Given the description of an element on the screen output the (x, y) to click on. 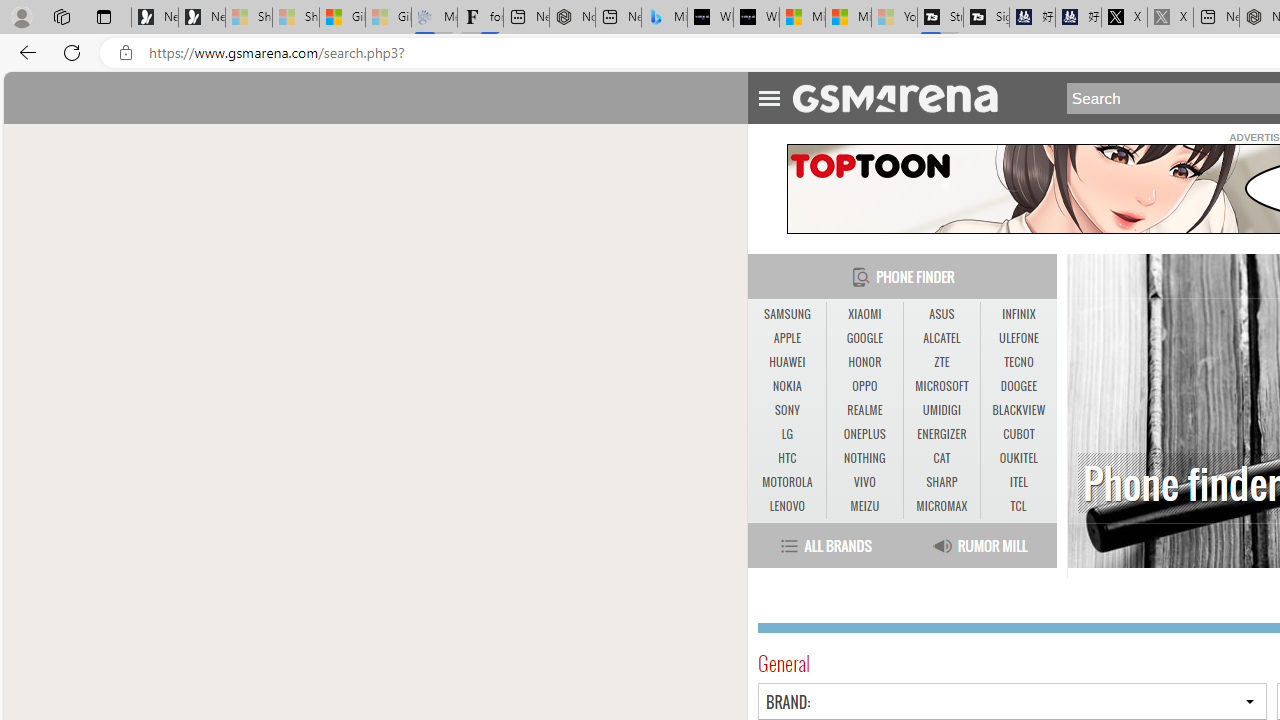
ONEPLUS (863, 434)
REALME (864, 411)
ITEL (1018, 483)
ENERGIZER (941, 434)
Streaming Coverage | T3 (939, 17)
MICROMAX (941, 506)
CAT (941, 458)
DOOGEE (1018, 385)
ALCATEL (941, 338)
ONEPLUS (864, 434)
TECNO (1018, 362)
Newsletter Sign Up (202, 17)
CUBOT (1018, 434)
